Given the description of an element on the screen output the (x, y) to click on. 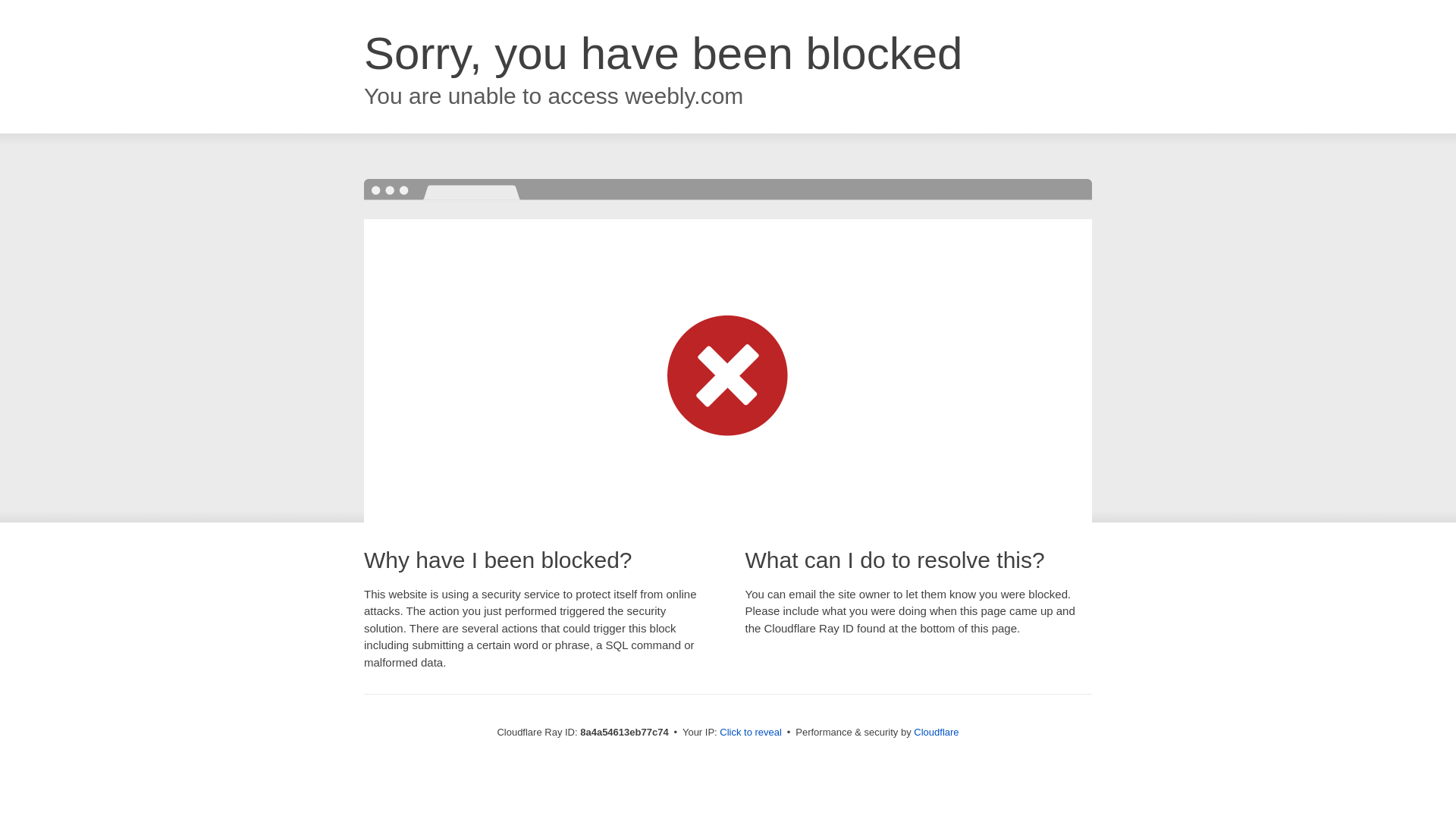
Click to reveal (750, 732)
Cloudflare (936, 731)
